Given the description of an element on the screen output the (x, y) to click on. 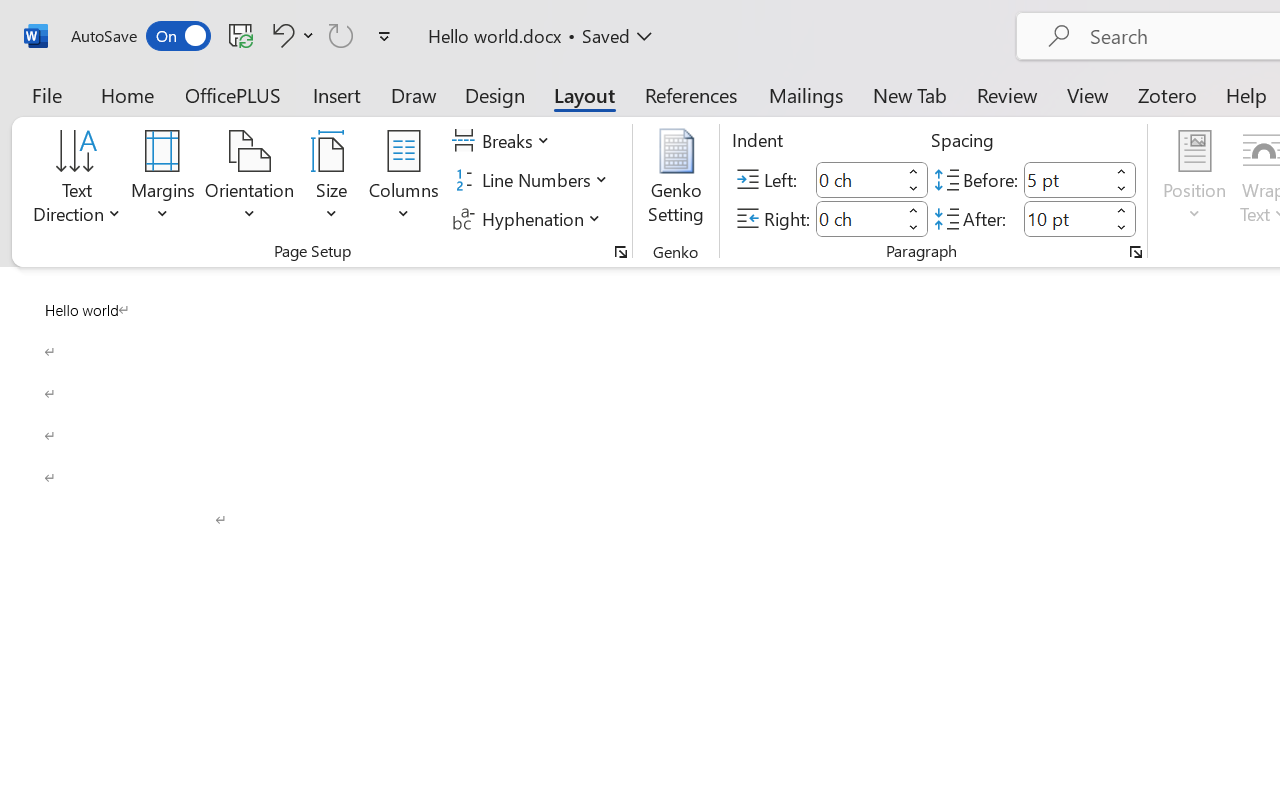
Quick Access Toolbar (233, 36)
Less (1121, 227)
Text Direction (77, 179)
Insert (337, 94)
Mailings (806, 94)
New Tab (909, 94)
AutoSave (140, 35)
Undo Subscript (290, 35)
Size (331, 179)
References (690, 94)
Page Setup... (621, 252)
Customize Quick Access Toolbar (384, 35)
Spacing Before (1066, 179)
Design (495, 94)
Layout (584, 94)
